Given the description of an element on the screen output the (x, y) to click on. 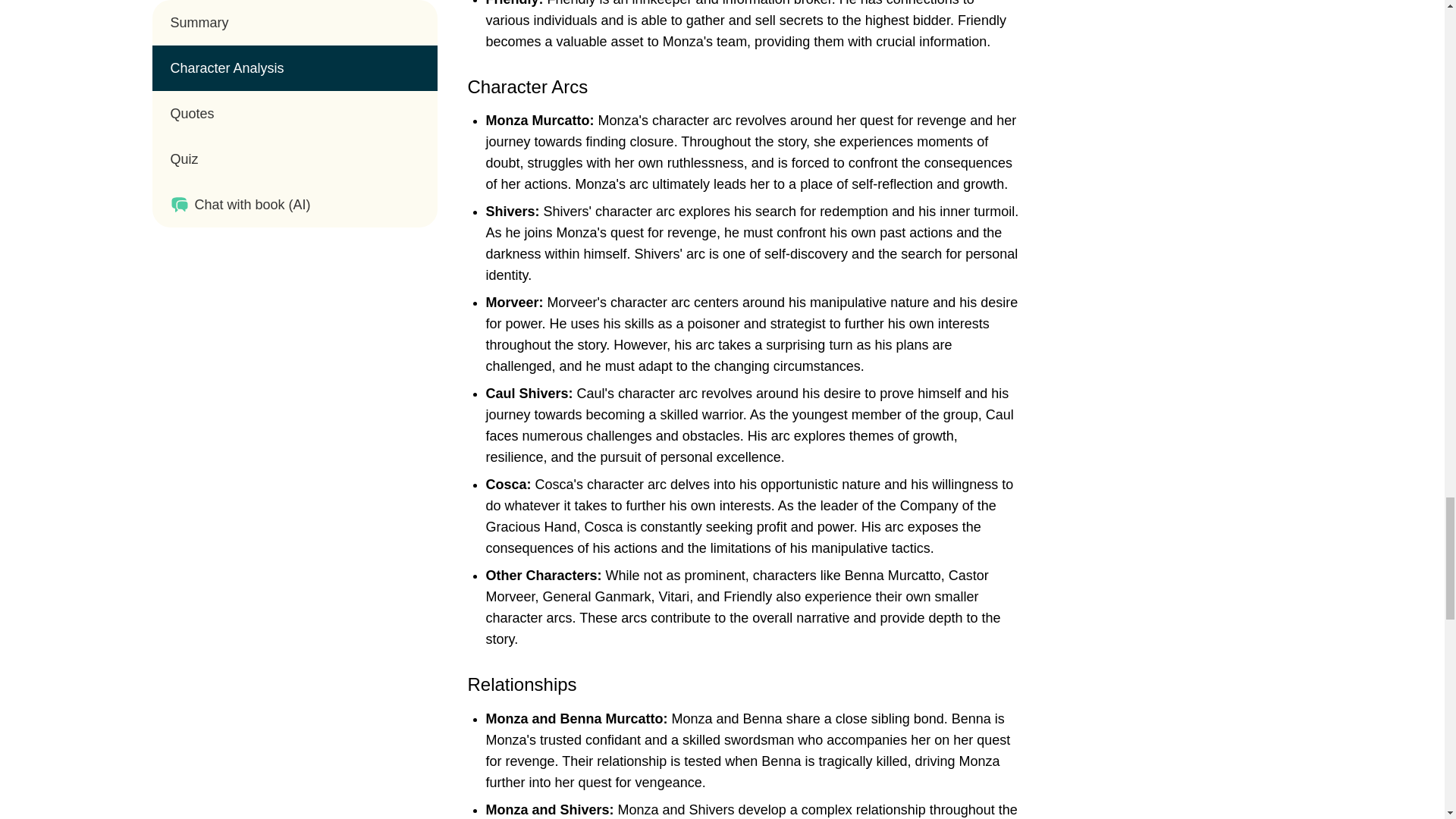
Character Arcs (527, 86)
